Given the description of an element on the screen output the (x, y) to click on. 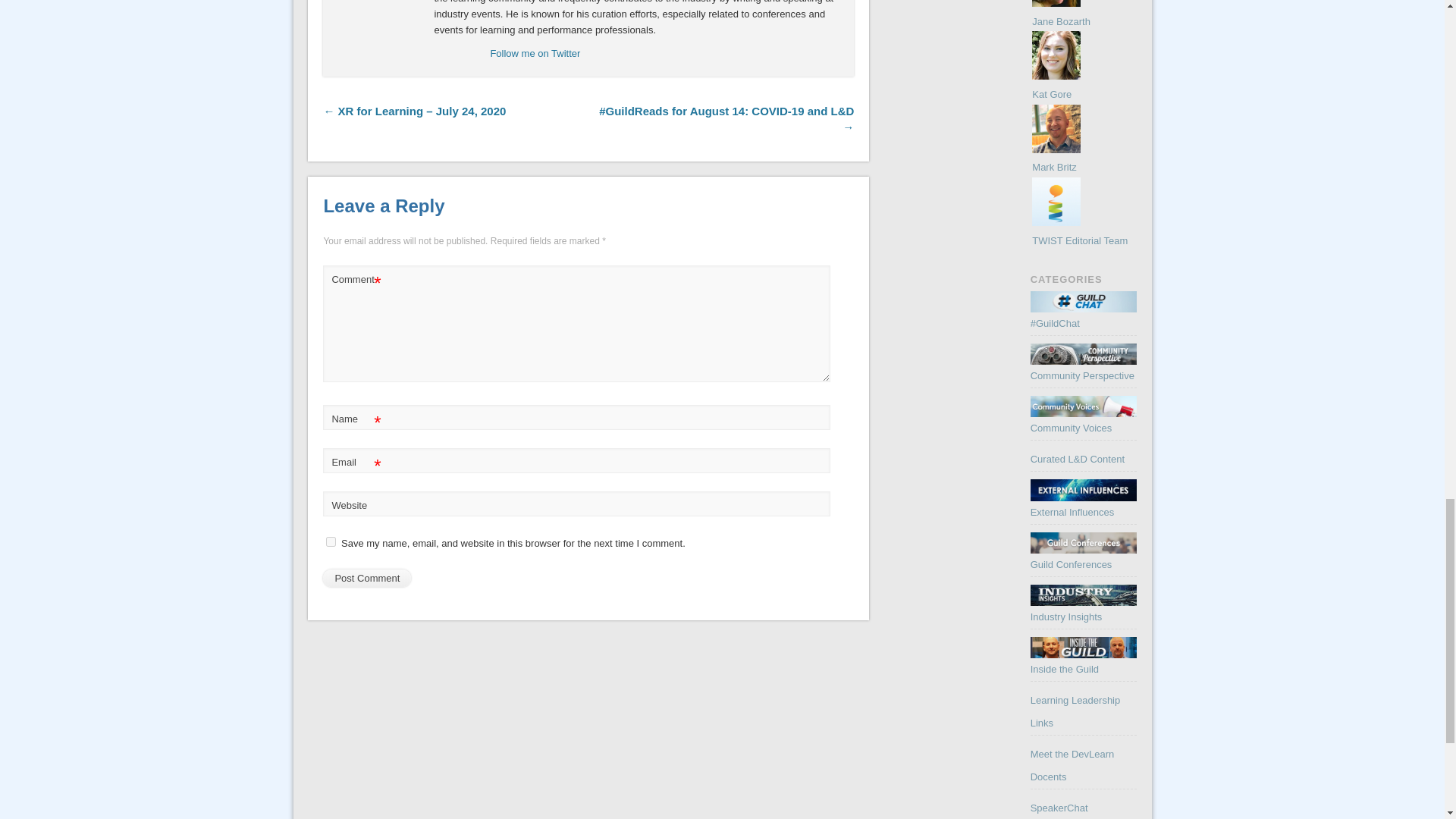
Post Comment (366, 578)
View all posts filed under Community Voices (1083, 414)
Community Perspective (1083, 353)
View all posts filed under Community Perspective (1082, 375)
View all posts filed under Community Voices (1071, 428)
Follow me on Twitter (534, 52)
yes (331, 542)
View all posts filed under Community Perspective (1083, 362)
Community Voices (1083, 405)
